Given the description of an element on the screen output the (x, y) to click on. 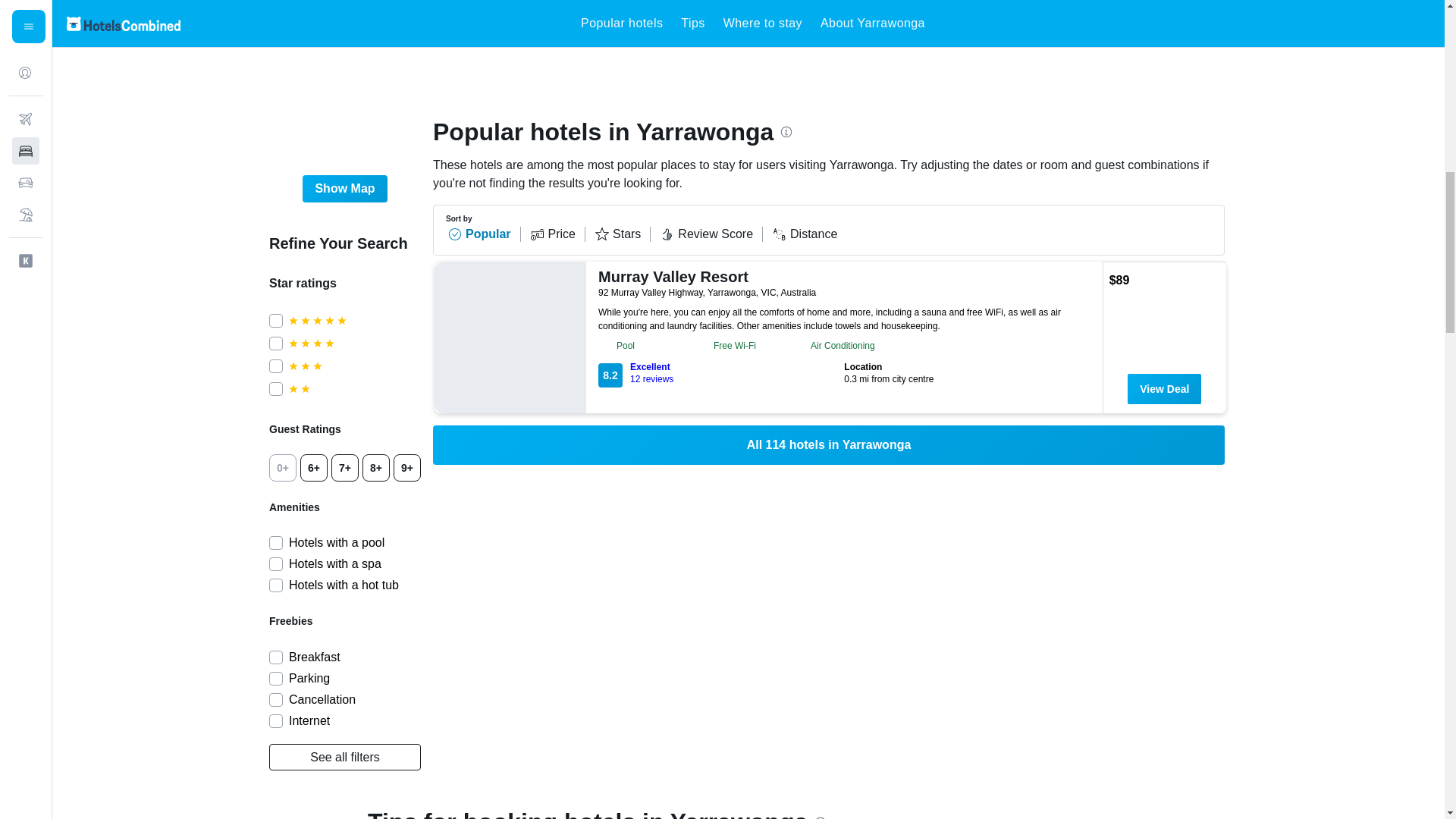
Australia Hotels (721, 373)
2 stars (435, 22)
Price (354, 388)
Stars (557, 233)
Victoria Hotels (622, 233)
Review Score (550, 22)
Distance (710, 233)
4 stars (804, 233)
Murray Valley Resort (354, 343)
